Given the description of an element on the screen output the (x, y) to click on. 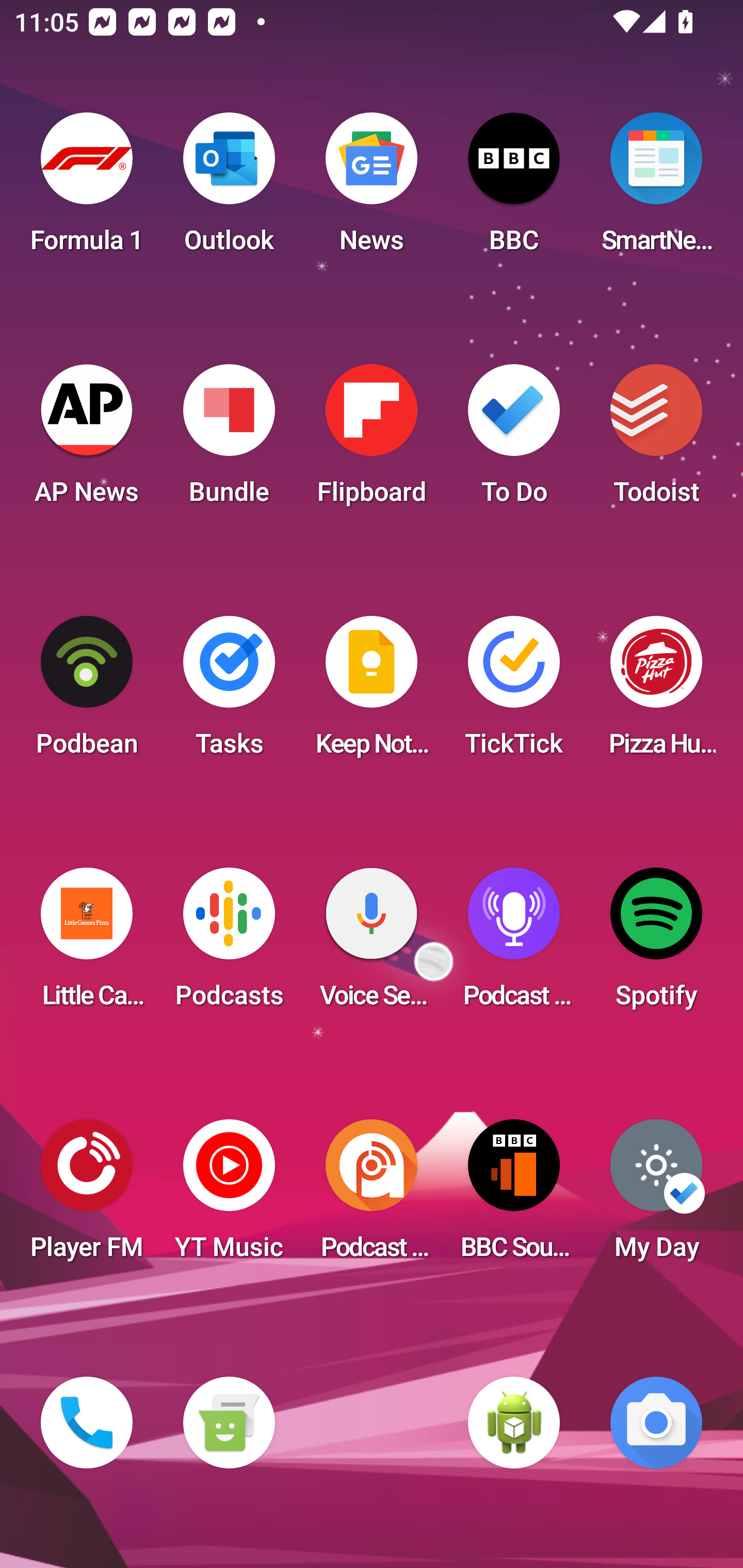
Formula 1 (86, 188)
Outlook (228, 188)
News (371, 188)
BBC (513, 188)
SmartNews (656, 188)
AP News (86, 440)
Bundle (228, 440)
Flipboard (371, 440)
To Do (513, 440)
Todoist (656, 440)
Podbean (86, 692)
Tasks (228, 692)
Keep Notes (371, 692)
TickTick (513, 692)
Pizza Hut HK & Macau (656, 692)
Little Caesars Pizza (86, 943)
Podcasts (228, 943)
Voice Search (371, 943)
Podcast Player (513, 943)
Spotify (656, 943)
Player FM (86, 1195)
YT Music (228, 1195)
Podcast Addict (371, 1195)
BBC Sounds (513, 1195)
My Day (656, 1195)
Phone (86, 1422)
Messaging (228, 1422)
WebView Browser Tester (513, 1422)
Camera (656, 1422)
